Given the description of an element on the screen output the (x, y) to click on. 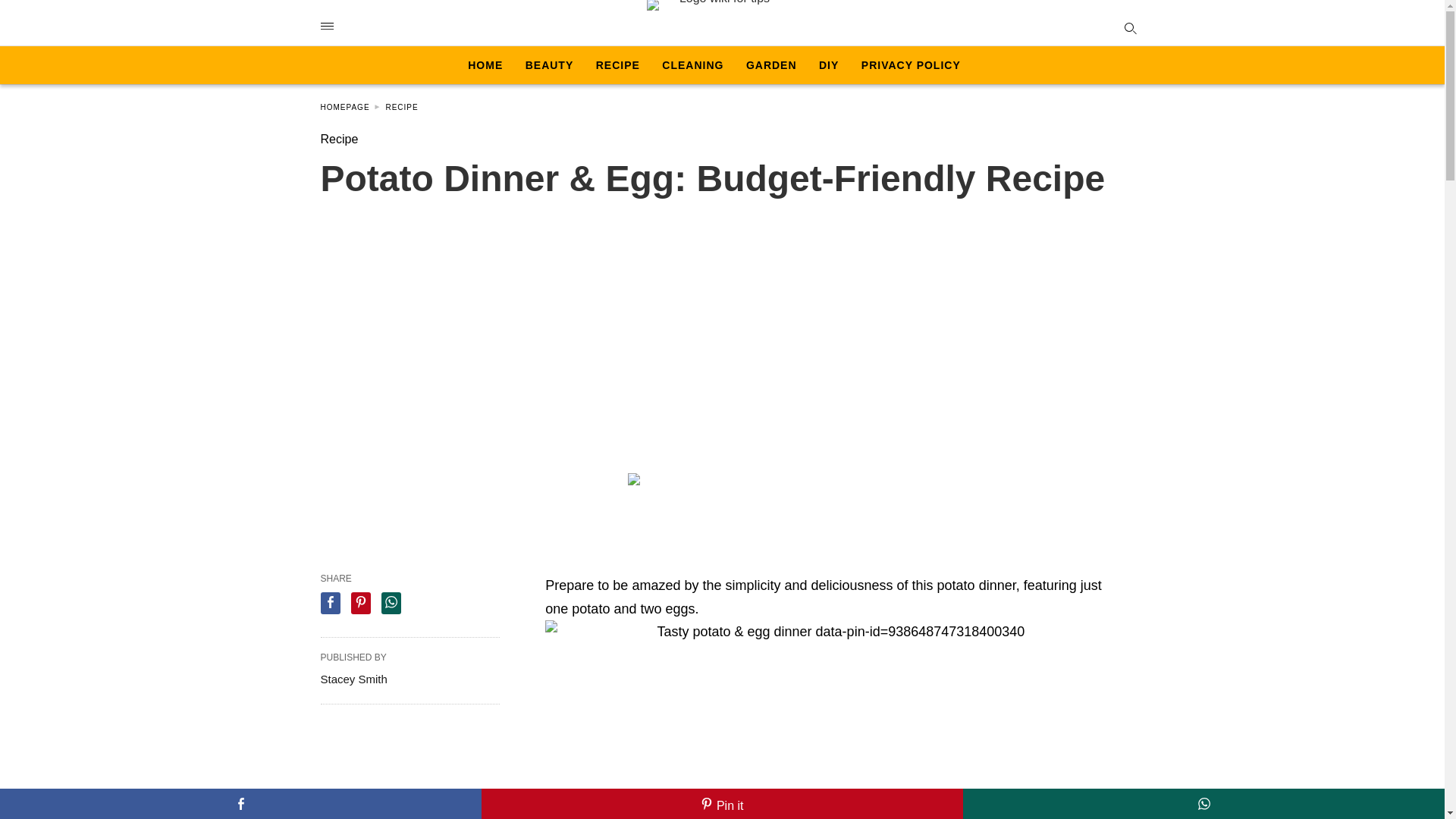
HOME (484, 65)
Homepage (350, 107)
search (1126, 25)
CLEANING (692, 65)
Pinterest (721, 803)
Recipe (401, 107)
facebook share (240, 803)
RECIPE (401, 107)
BEAUTY (549, 65)
Wiki for Tips (718, 23)
